Given the description of an element on the screen output the (x, y) to click on. 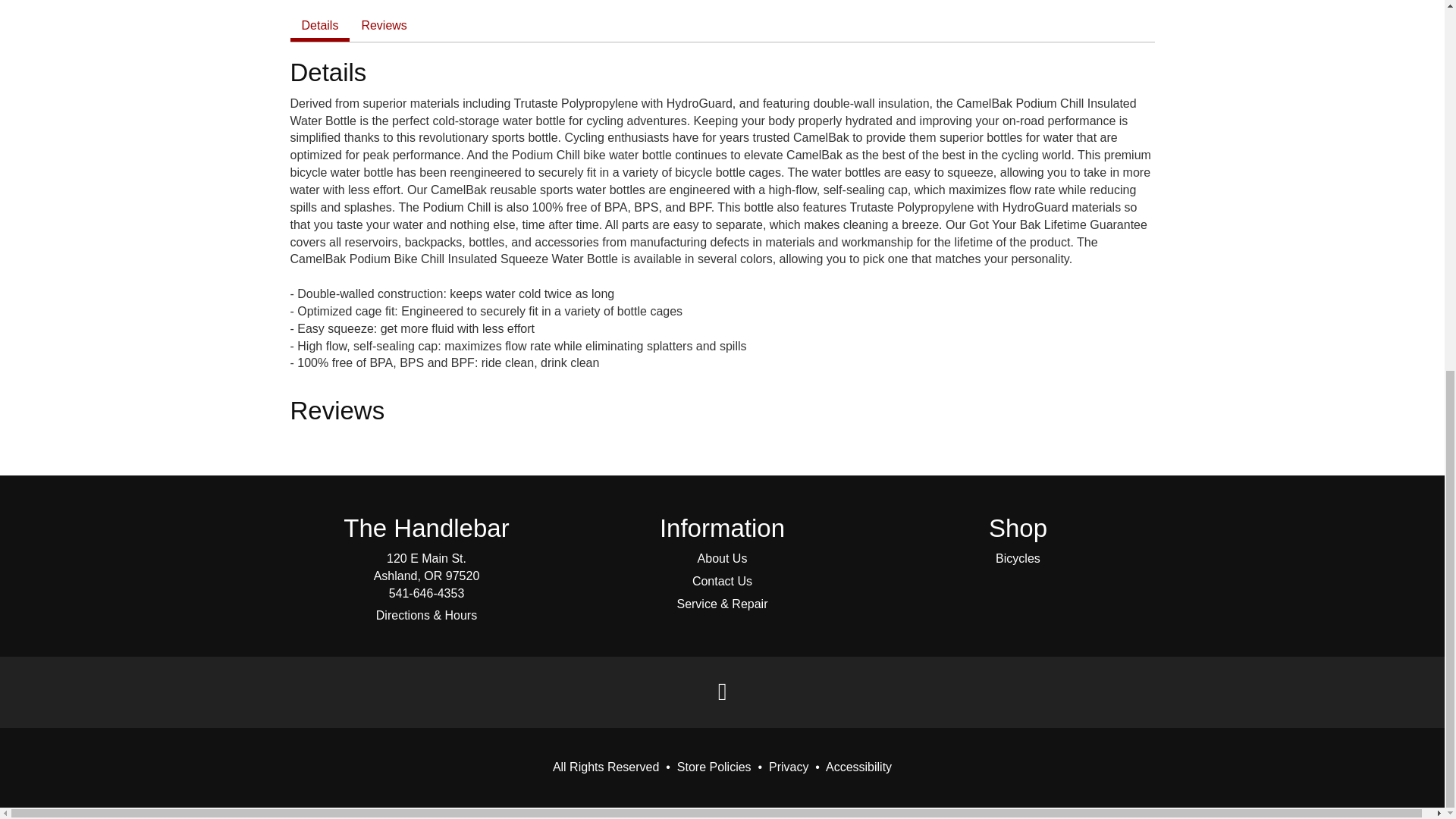
Reviews (383, 25)
Details (319, 25)
Contact Us (722, 581)
541-646-4353 (426, 593)
About Us (722, 558)
